Given the description of an element on the screen output the (x, y) to click on. 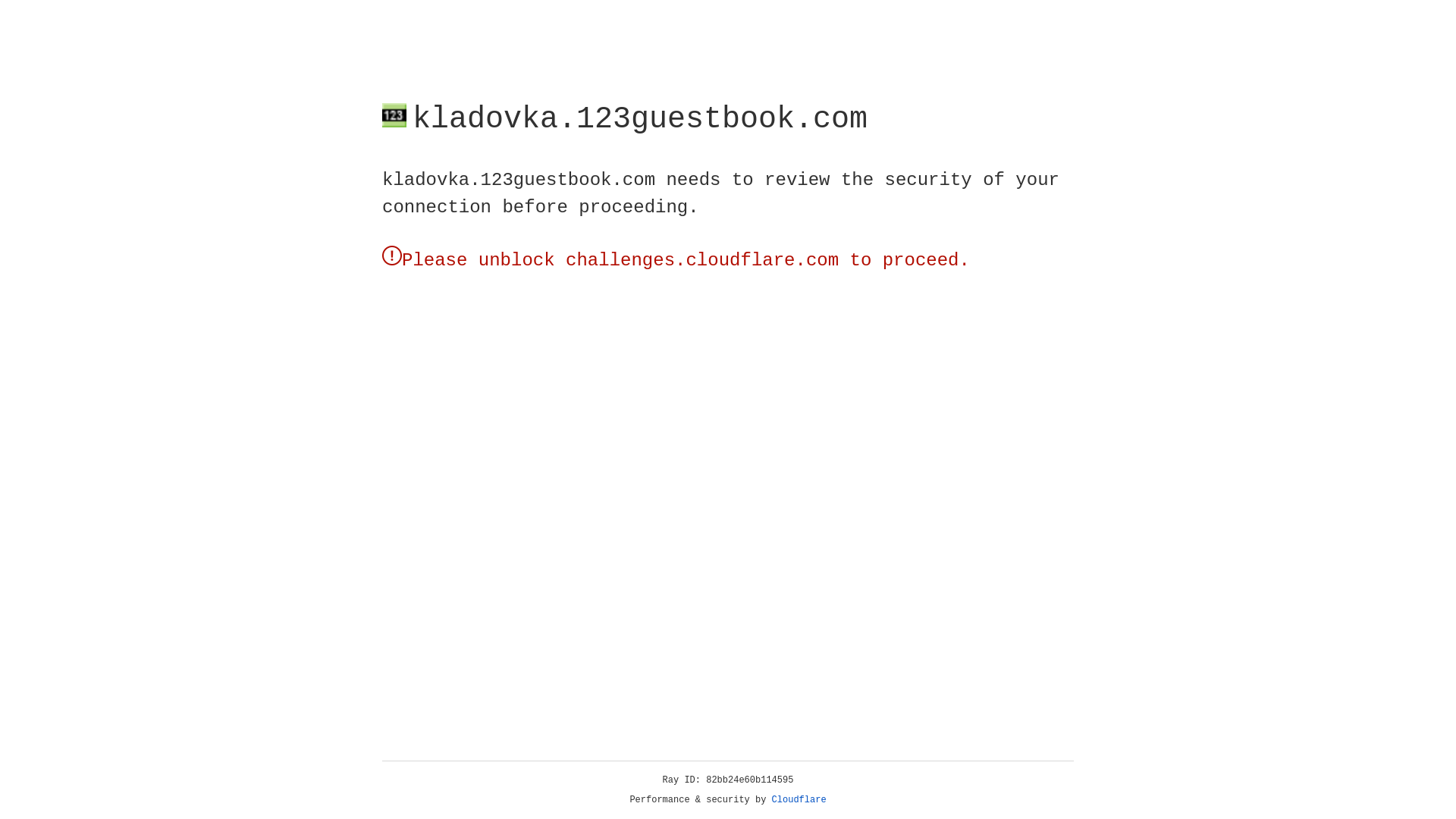
Cloudflare Element type: text (798, 799)
